Given the description of an element on the screen output the (x, y) to click on. 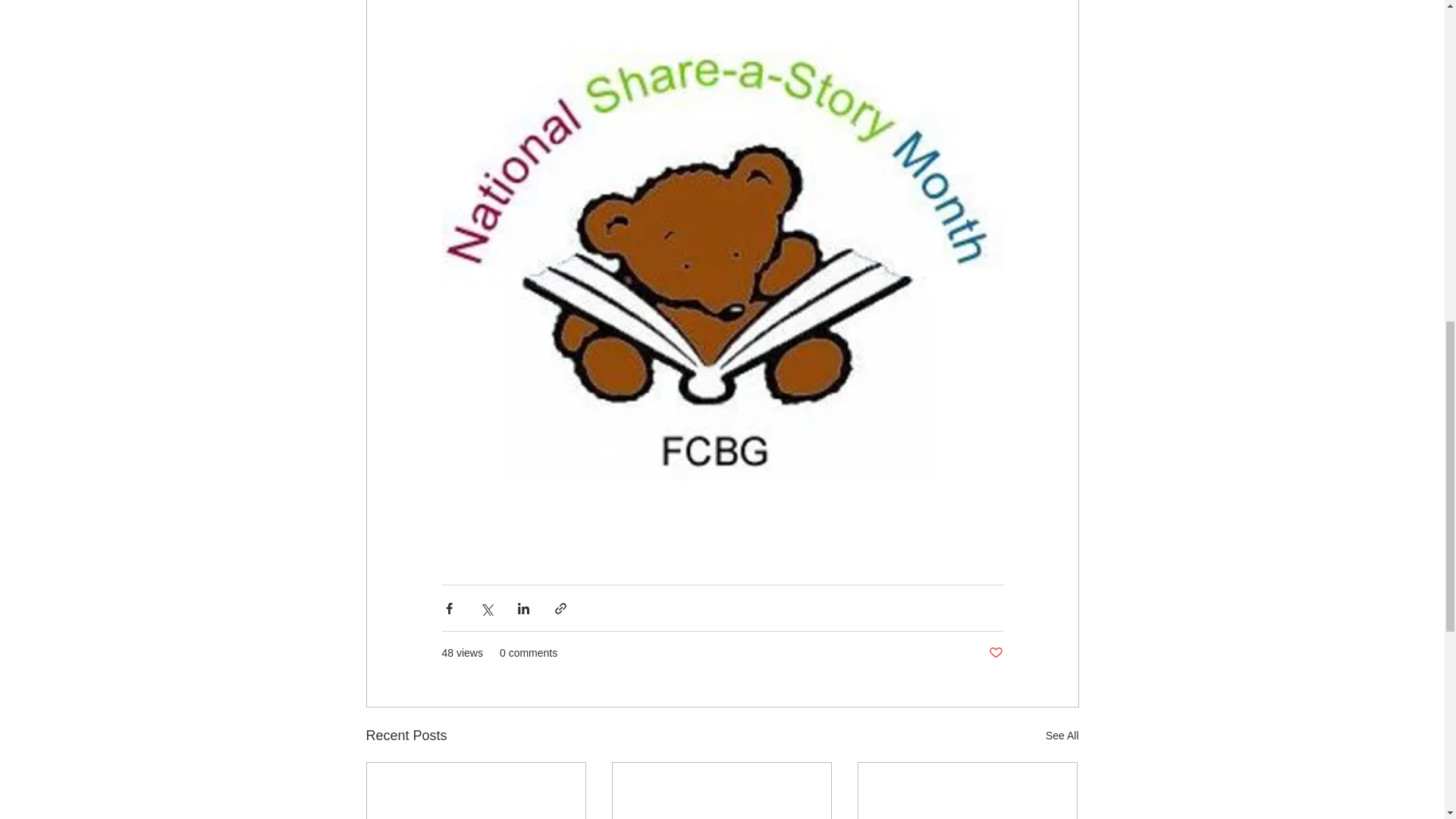
See All (1061, 735)
Post not marked as liked (995, 652)
